Given the description of an element on the screen output the (x, y) to click on. 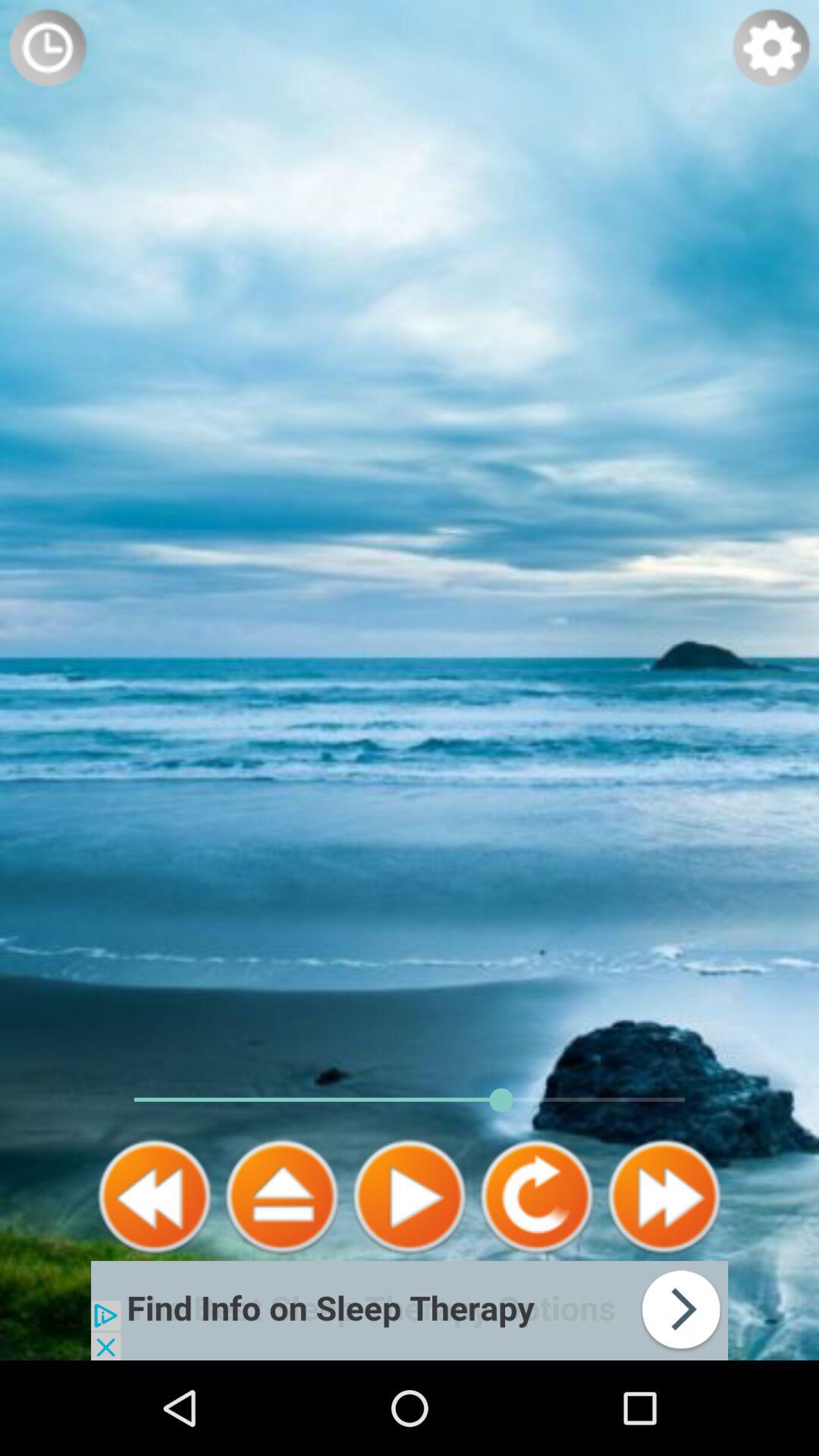
link to advertisement (409, 1310)
